Given the description of an element on the screen output the (x, y) to click on. 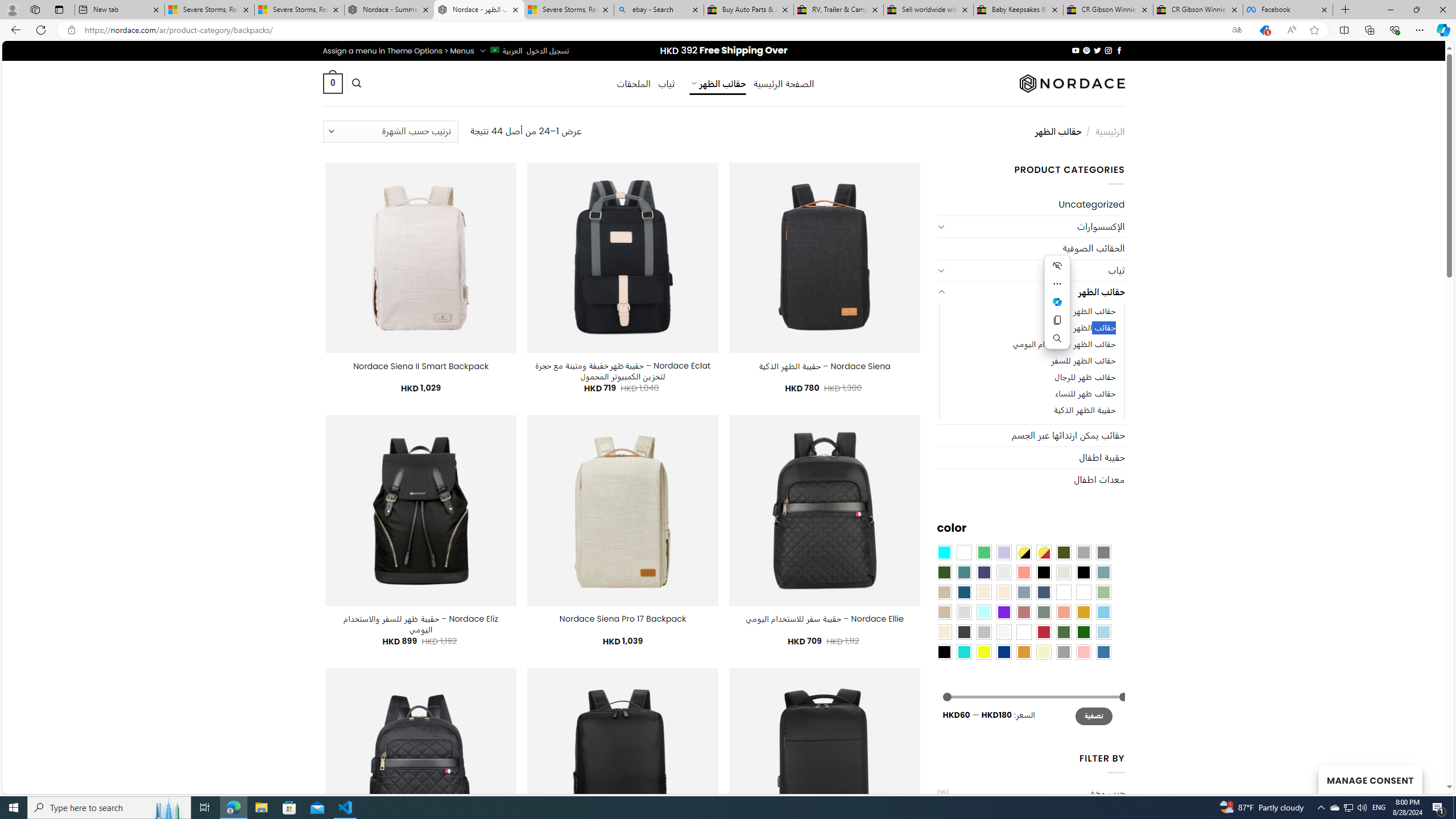
Follow on Pinterest (1086, 50)
Rose (1023, 611)
  0   (332, 83)
Show translate options (1236, 29)
Dusty Blue (1023, 591)
Sell worldwide with eBay (928, 9)
